Given the description of an element on the screen output the (x, y) to click on. 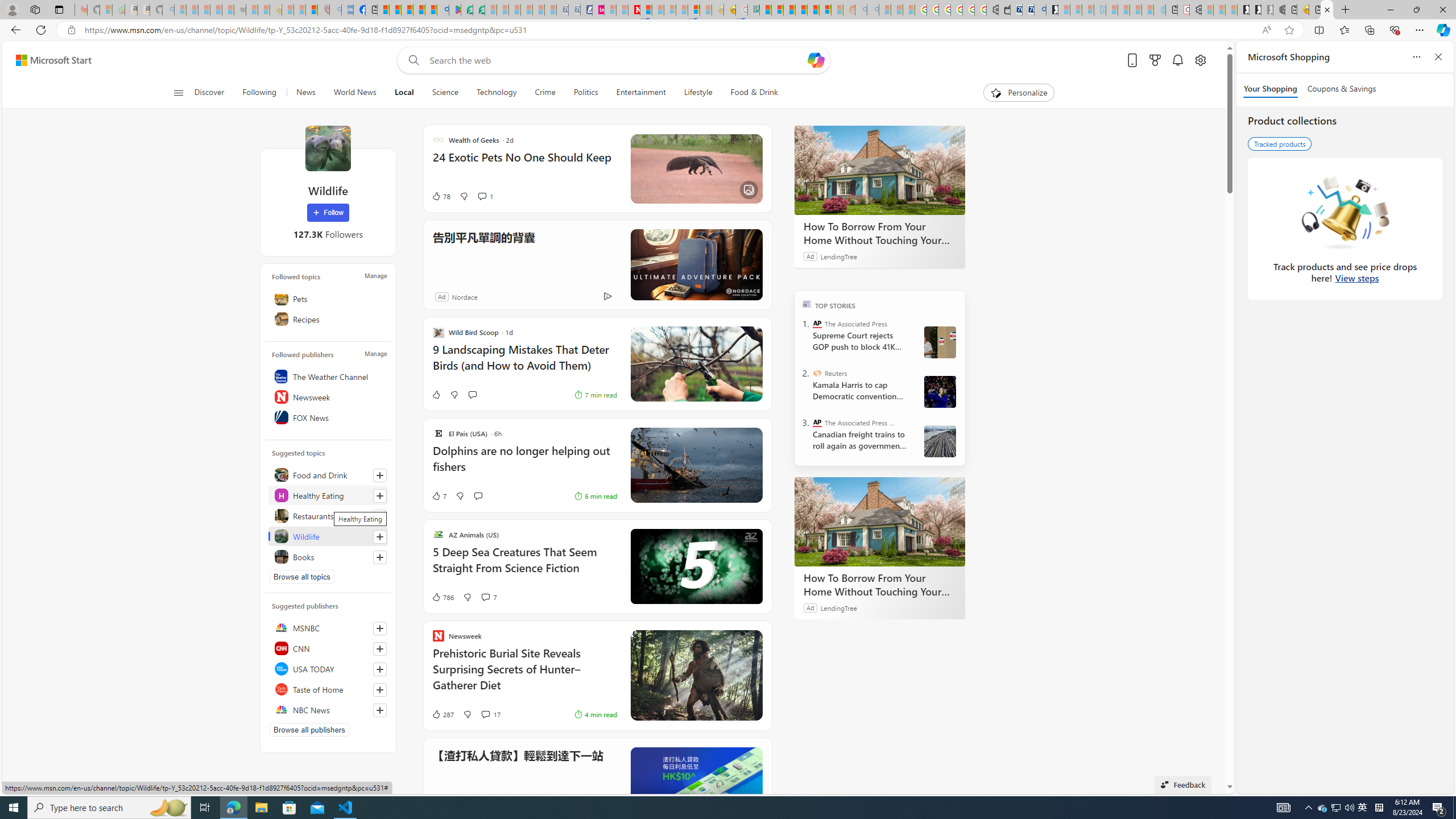
Local - MSN (311, 9)
Microsoft Word - consumer-privacy address update 2.2021 (478, 9)
View comments 17 Comment (485, 714)
View comments 7 Comment (485, 596)
Image Credit: Depositphotos. (696, 364)
Manage (375, 353)
